Given the description of an element on the screen output the (x, y) to click on. 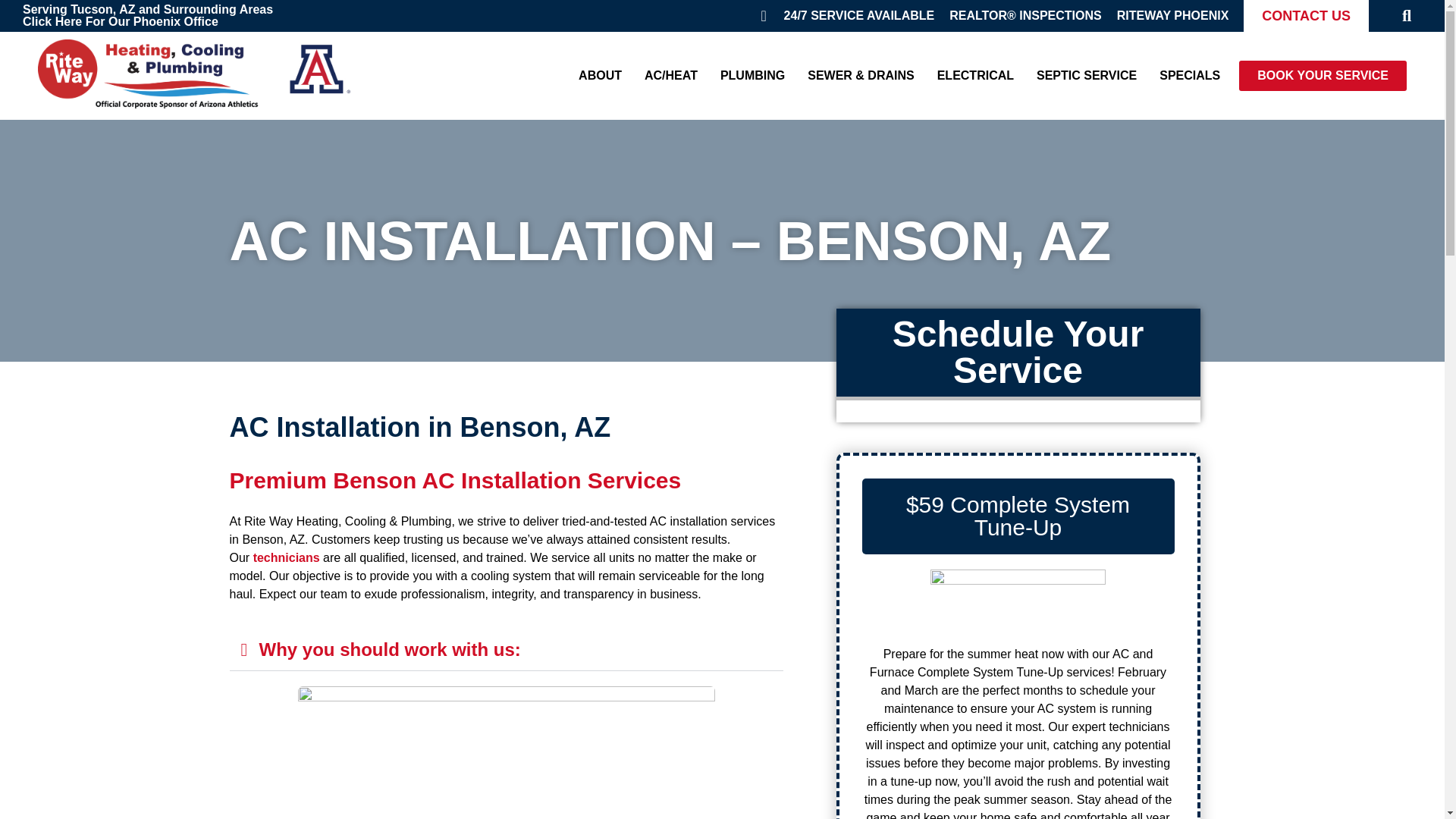
ABOUT (600, 75)
CONTACT US (1305, 15)
PLUMBING (752, 75)
RITEWAY PHOENIX (1172, 15)
